Given the description of an element on the screen output the (x, y) to click on. 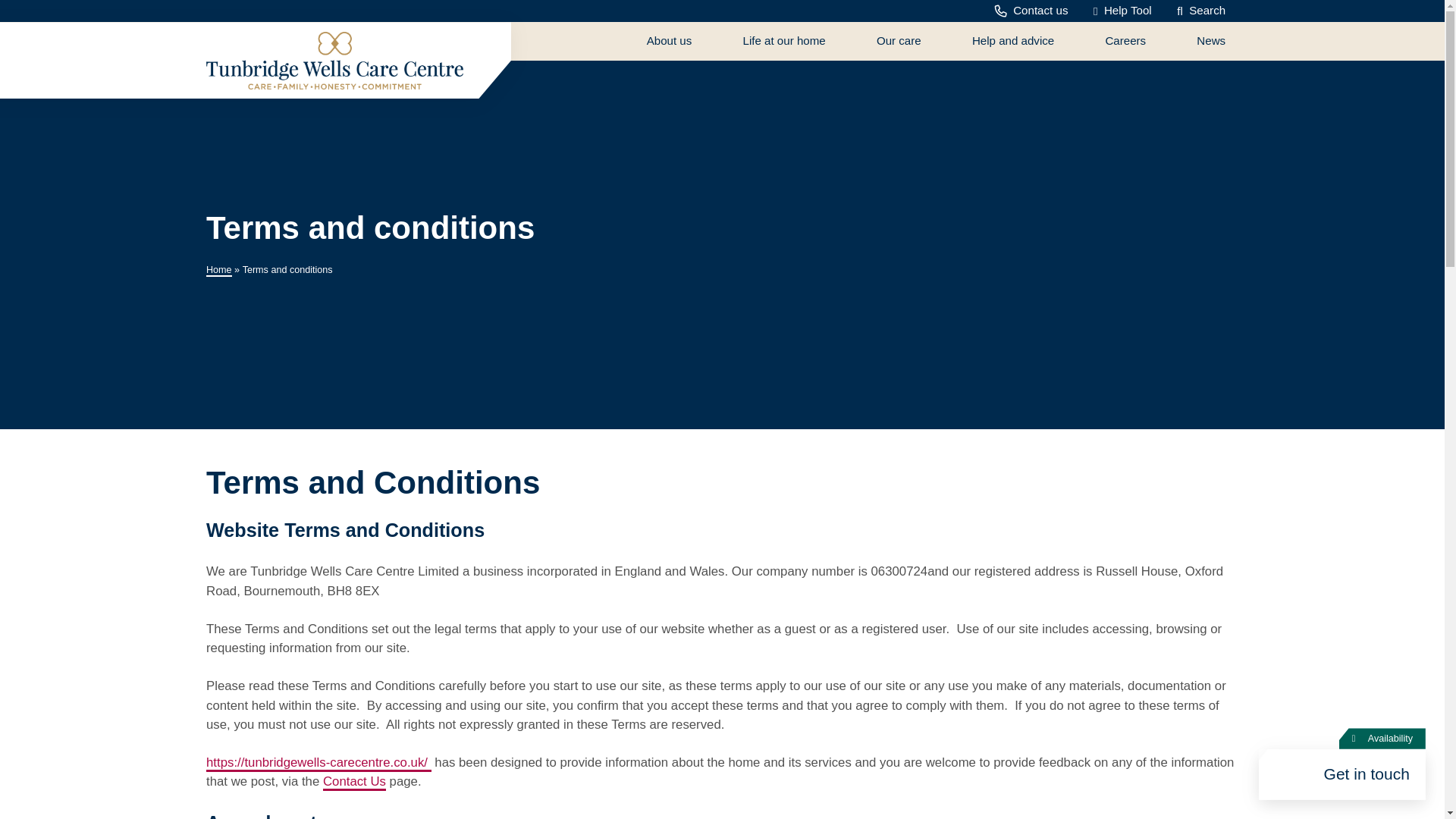
Help and advice (1026, 40)
Help Tool (1121, 11)
Our care (911, 40)
Life at our home (796, 40)
Contact us (1030, 11)
About us (681, 40)
Search (1200, 11)
